Given the description of an element on the screen output the (x, y) to click on. 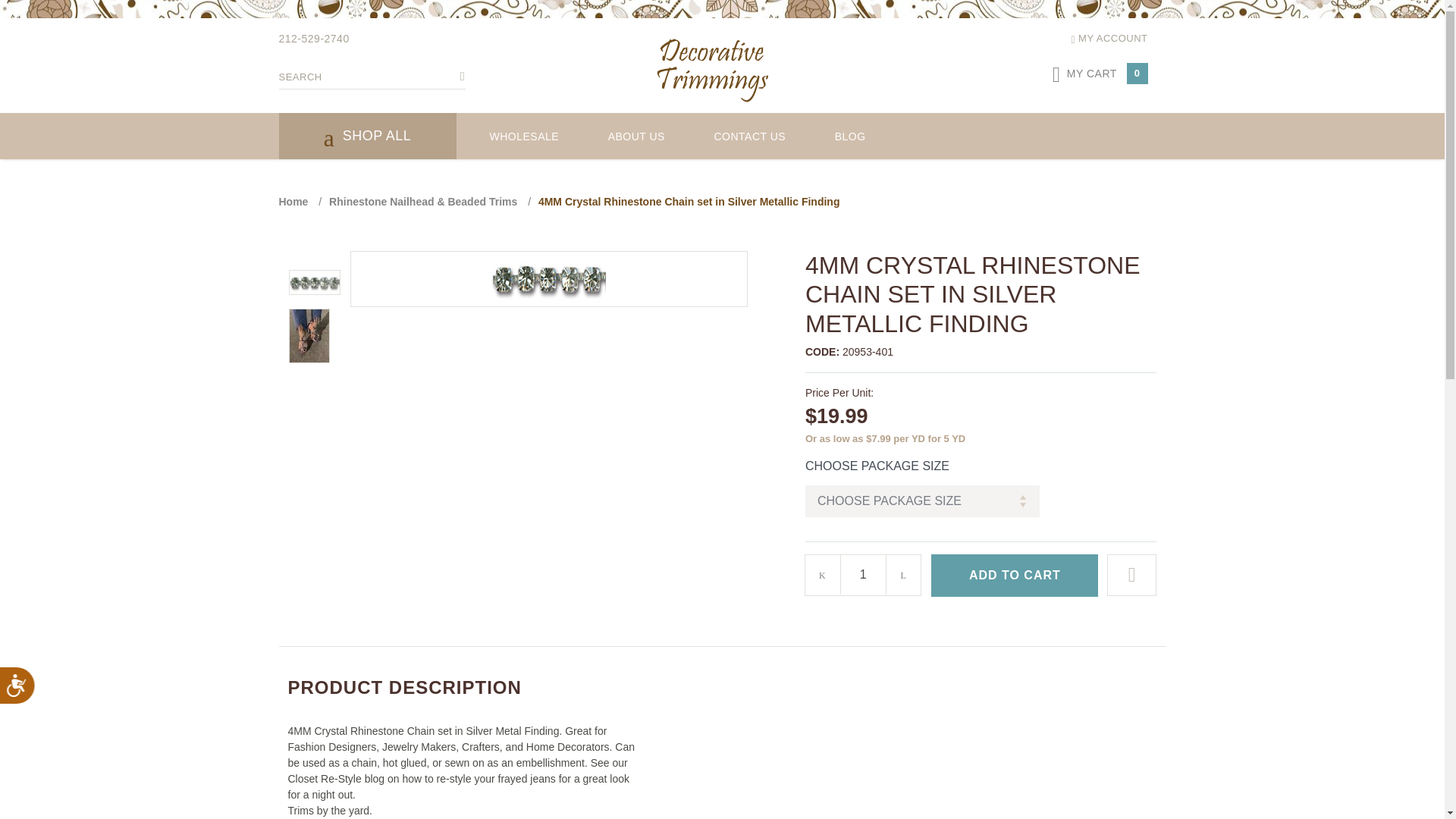
Accessibility (29, 697)
Cart (1050, 75)
Decorative Trimmings LLC (713, 66)
1 (863, 574)
